Given the description of an element on the screen output the (x, y) to click on. 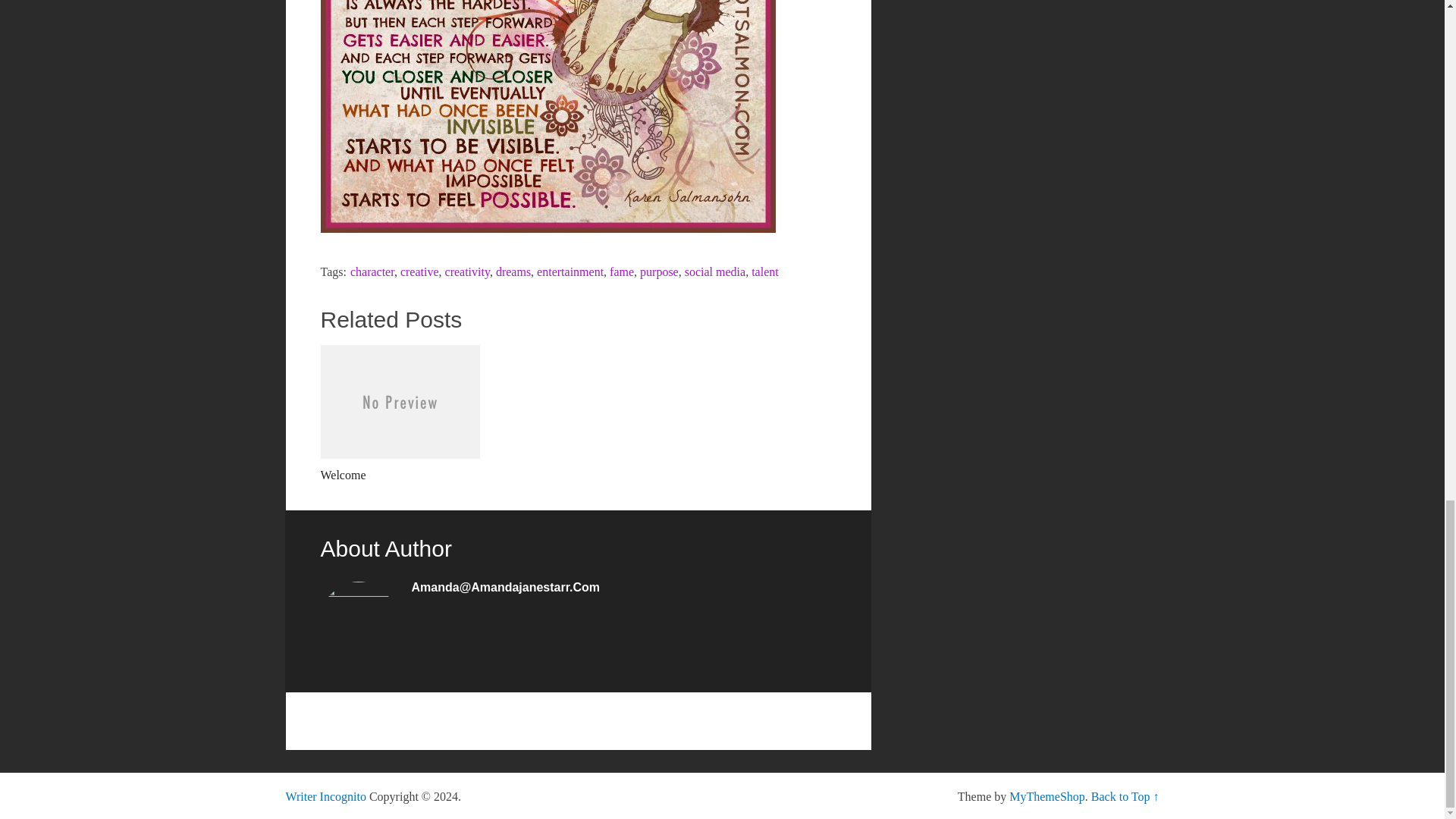
character (372, 271)
dreams (513, 271)
talent (764, 271)
entertainment (570, 271)
Welcome (399, 414)
purpose (659, 271)
creativity (467, 271)
fame (621, 271)
social media (714, 271)
Welcome (399, 414)
creative (419, 271)
